Given the description of an element on the screen output the (x, y) to click on. 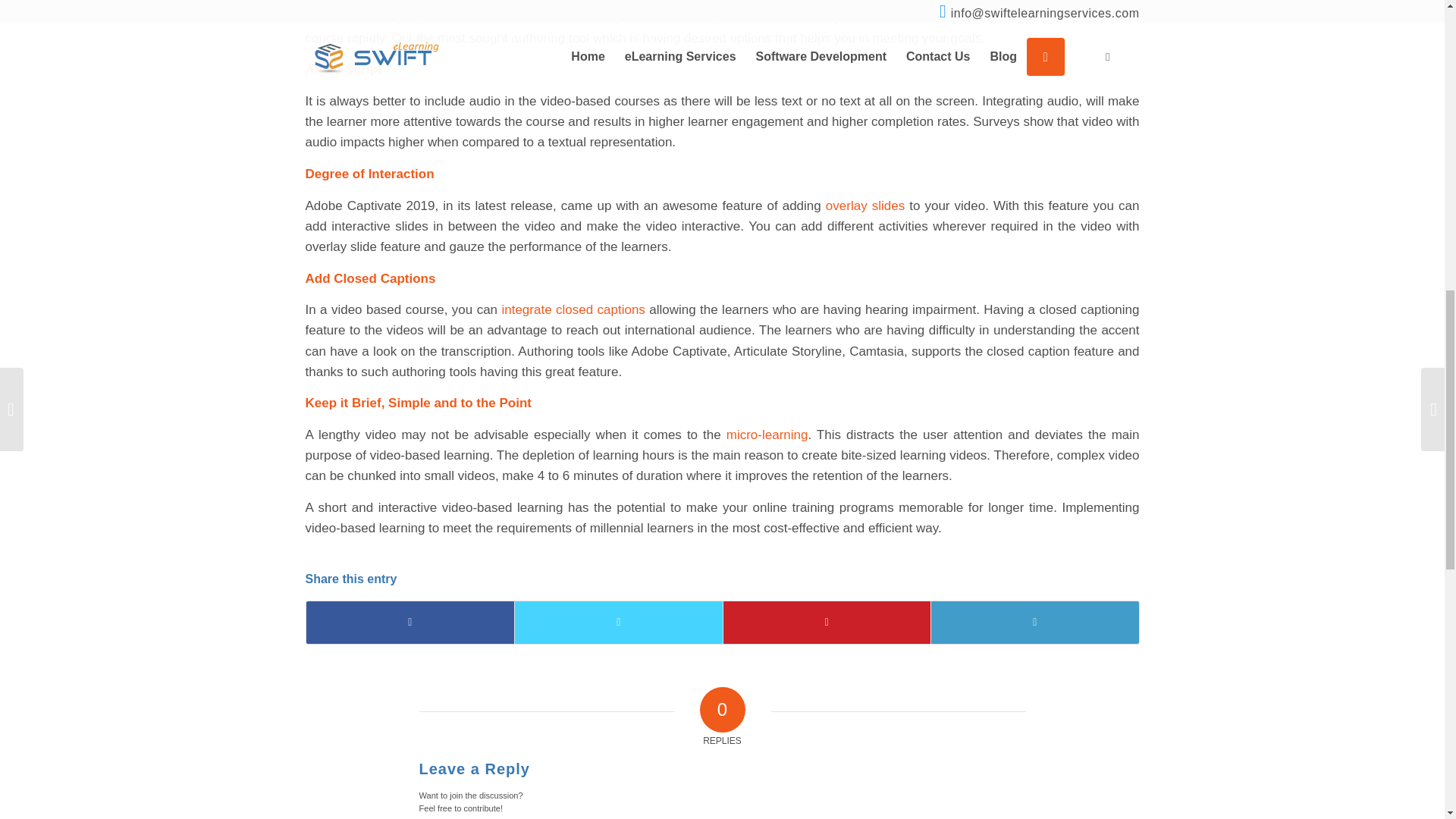
micro-learning (767, 434)
integrate closed captions (572, 309)
overlay slides (864, 205)
